Given the description of an element on the screen output the (x, y) to click on. 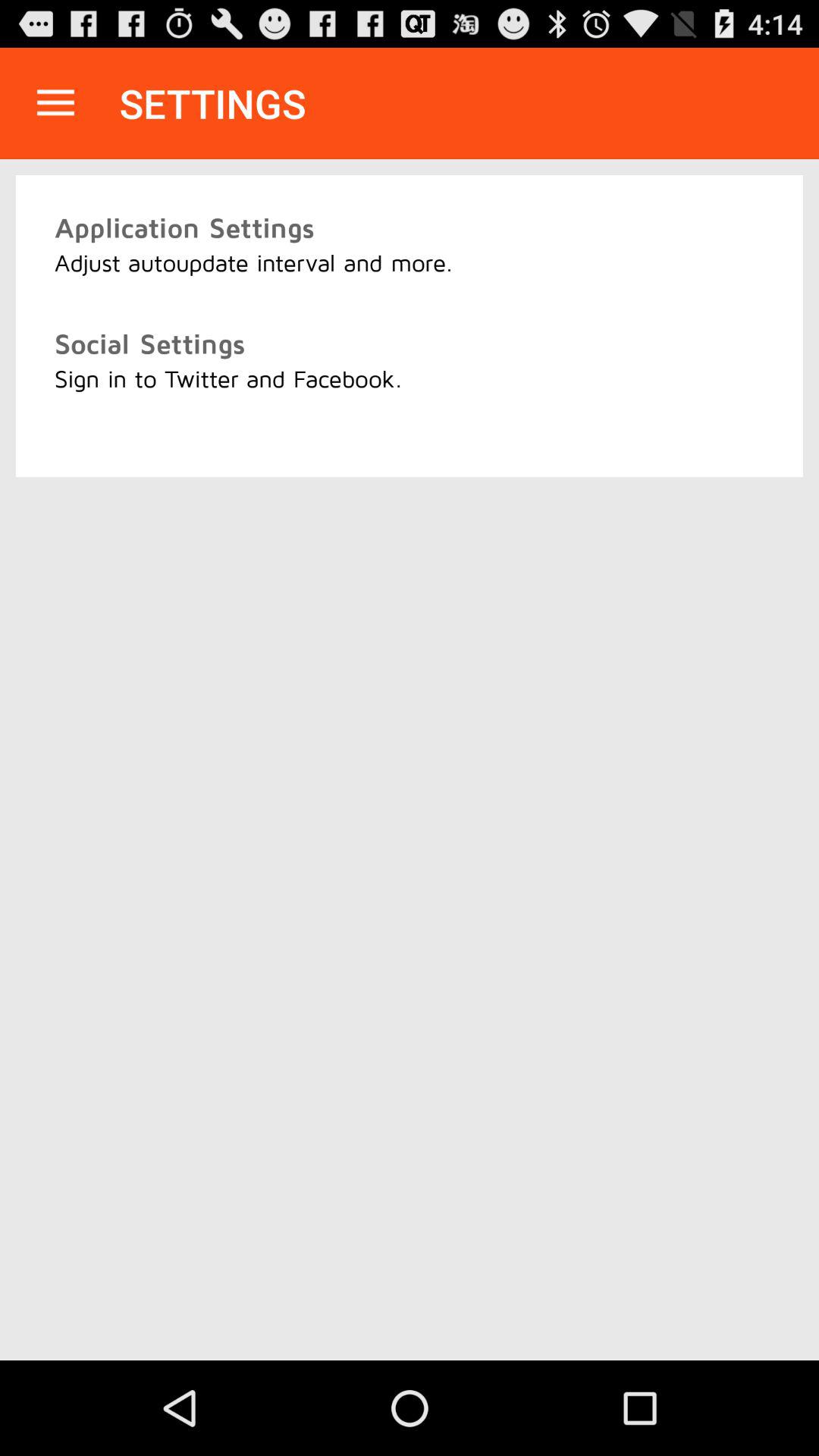
open the item next to settings (55, 103)
